Given the description of an element on the screen output the (x, y) to click on. 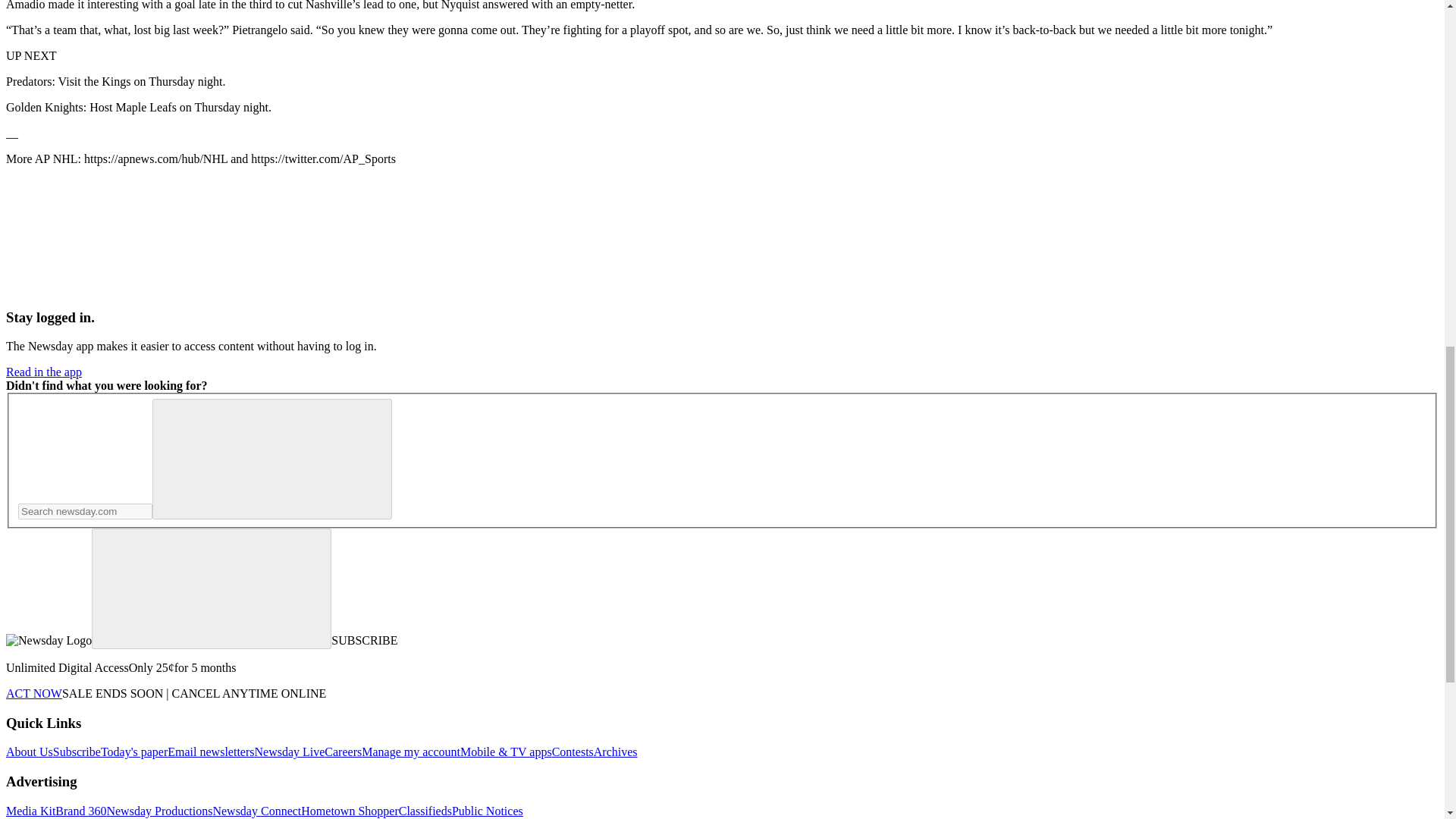
Manage my account (410, 751)
Newsday Live (288, 751)
Today's paper (133, 751)
Search (271, 458)
ACT NOW (33, 693)
Careers (342, 751)
Subscribe (76, 751)
About Us (28, 751)
Email newsletters (210, 751)
Read in the app (43, 371)
